Given the description of an element on the screen output the (x, y) to click on. 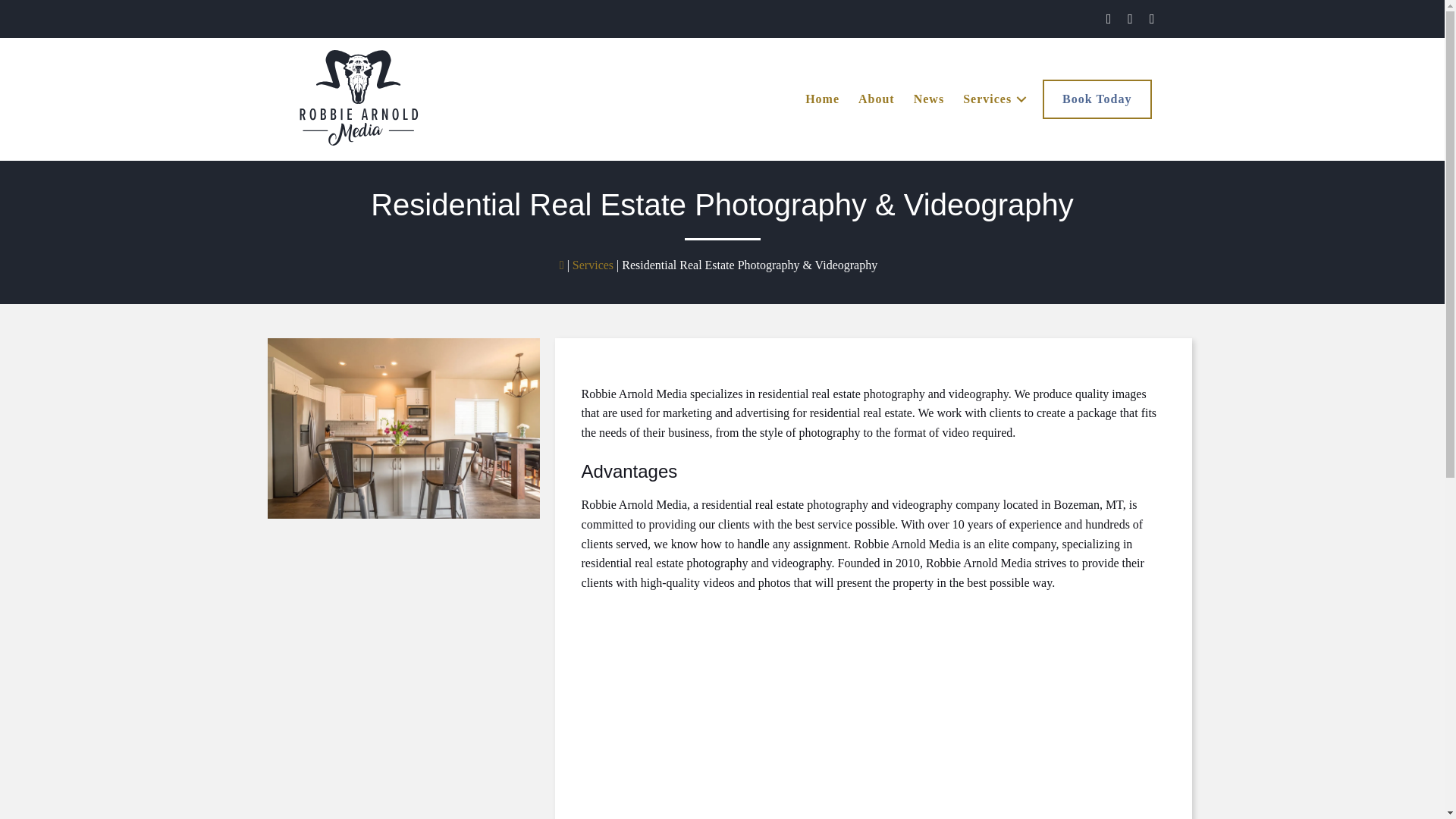
Home (822, 98)
News (928, 98)
343 W  Ridges BLVD (770, 715)
Biz-Name-Black (357, 126)
Book Today (1096, 98)
About (876, 98)
residential-real-estate (402, 428)
Services (592, 264)
ramSkull-only (358, 76)
Services (991, 98)
